Given the description of an element on the screen output the (x, y) to click on. 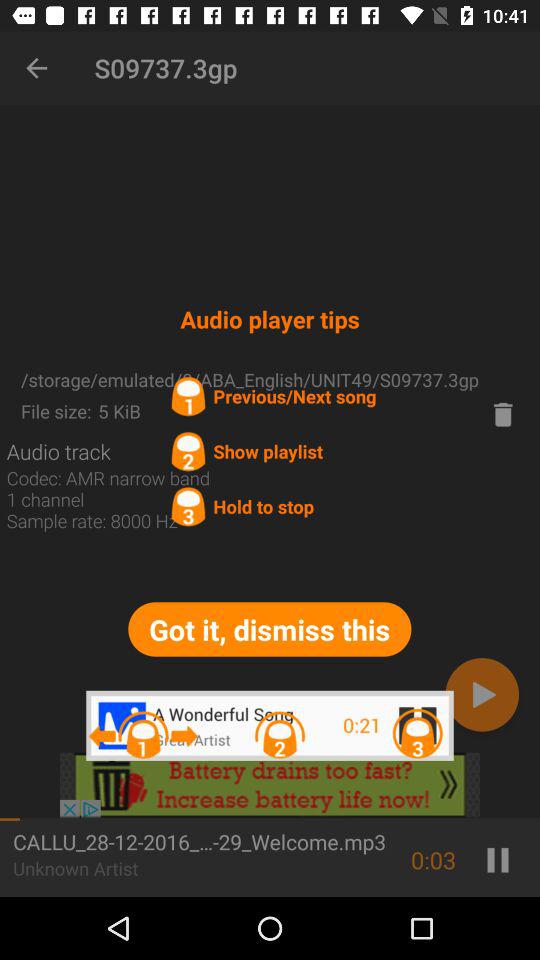
flip to audio track icon (58, 451)
